Given the description of an element on the screen output the (x, y) to click on. 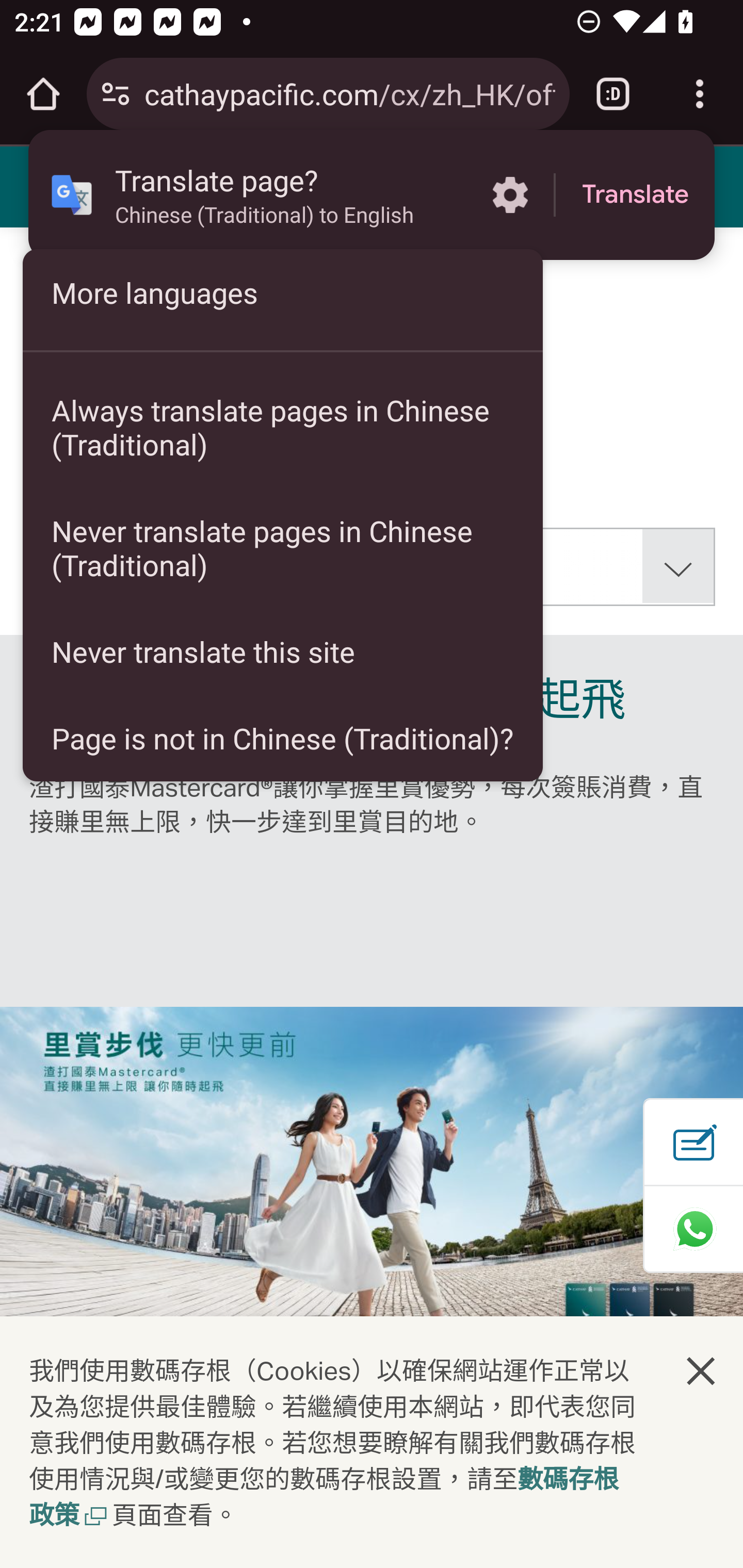
More languages (283, 292)
Always translate pages in Chinese (Traditional) (283, 426)
Never translate pages in Chinese (Traditional) (283, 547)
Never translate this site (283, 651)
Page is not in Chinese (Traditional)? (283, 737)
